Given the description of an element on the screen output the (x, y) to click on. 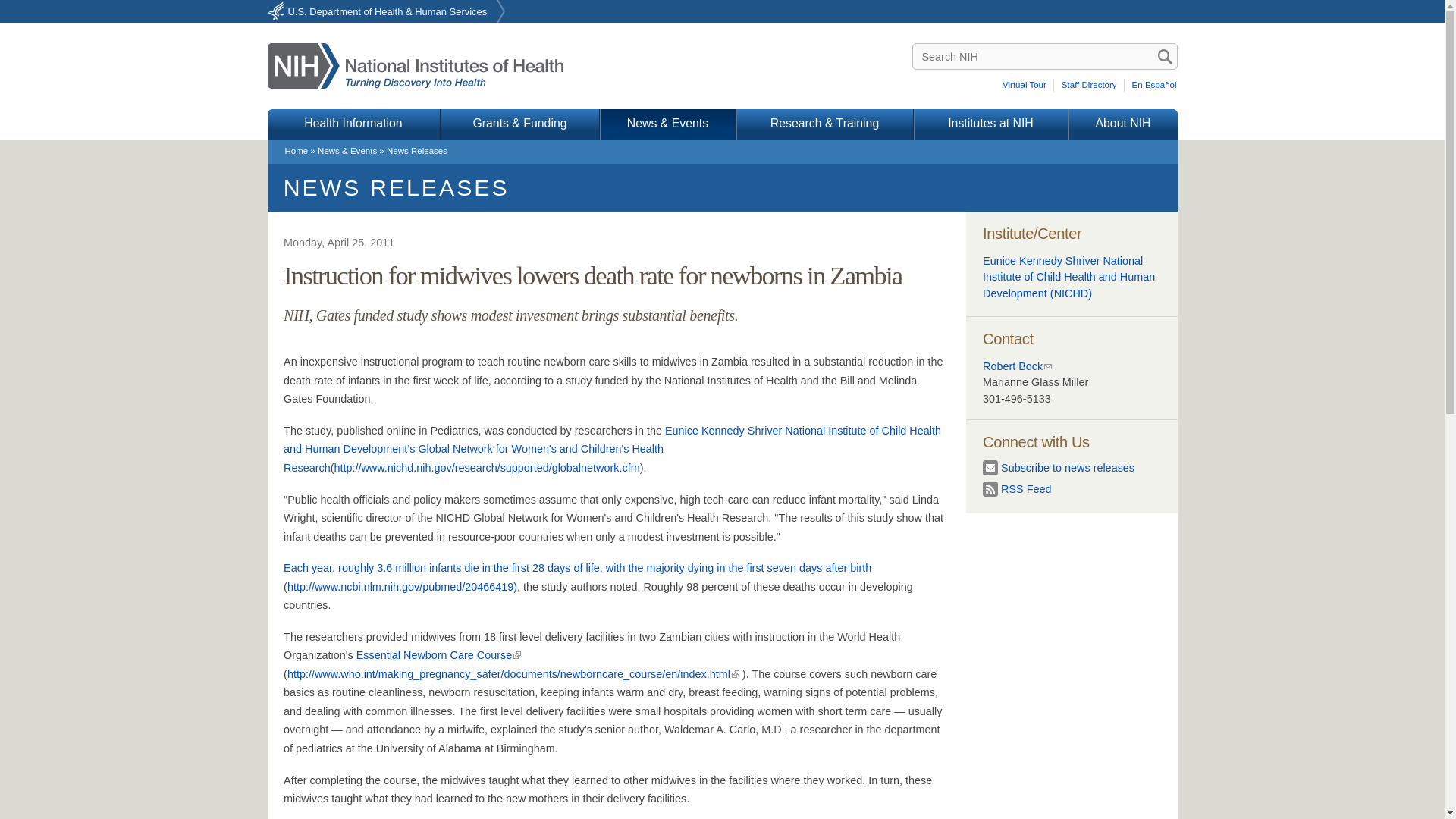
Search (1164, 56)
Health Information (352, 123)
Search (1164, 56)
Virtual Tour (1026, 84)
Search (1164, 56)
Staff Directory (1091, 84)
